Given the description of an element on the screen output the (x, y) to click on. 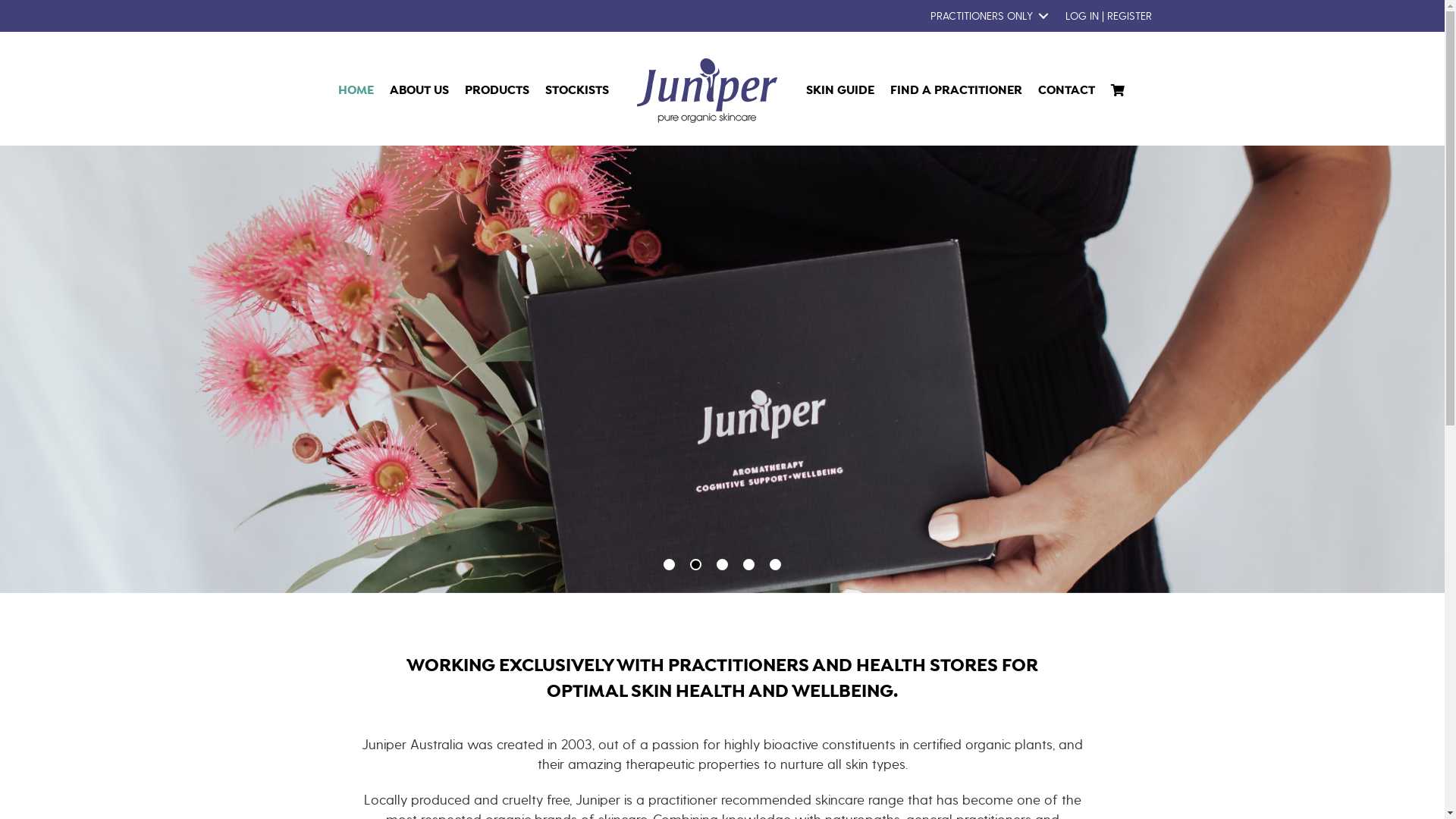
PRACTITIONERS ONLY Element type: text (986, 15)
SKIN GUIDE Element type: text (839, 90)
4 Element type: text (748, 564)
STOCKISTS Element type: text (576, 90)
PRODUCTS Element type: text (496, 90)
HOME Element type: text (355, 90)
1 Element type: text (668, 564)
FIND A PRACTITIONER Element type: text (955, 90)
CONTACT Element type: text (1066, 90)
LOG IN | REGISTER Element type: text (1107, 15)
2 Element type: text (695, 564)
3 Element type: text (722, 564)
ABOUT US Element type: text (419, 90)
5 Element type: text (775, 564)
